Given the description of an element on the screen output the (x, y) to click on. 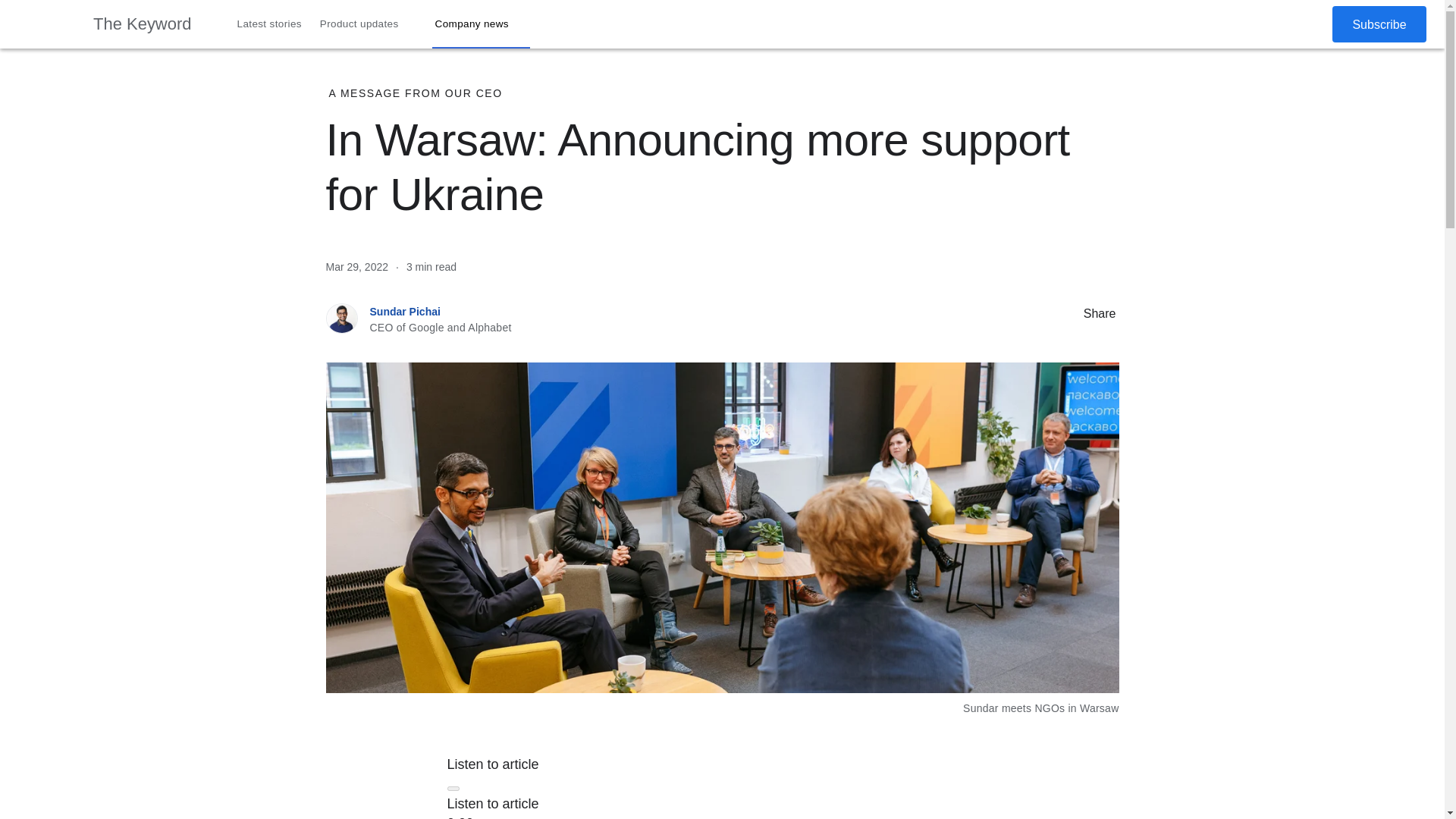
Secondary menu (1307, 23)
Share (1068, 313)
Search (1274, 23)
Product updates (368, 24)
Google (46, 24)
The Keyword (142, 24)
Latest stories (269, 24)
